Given the description of an element on the screen output the (x, y) to click on. 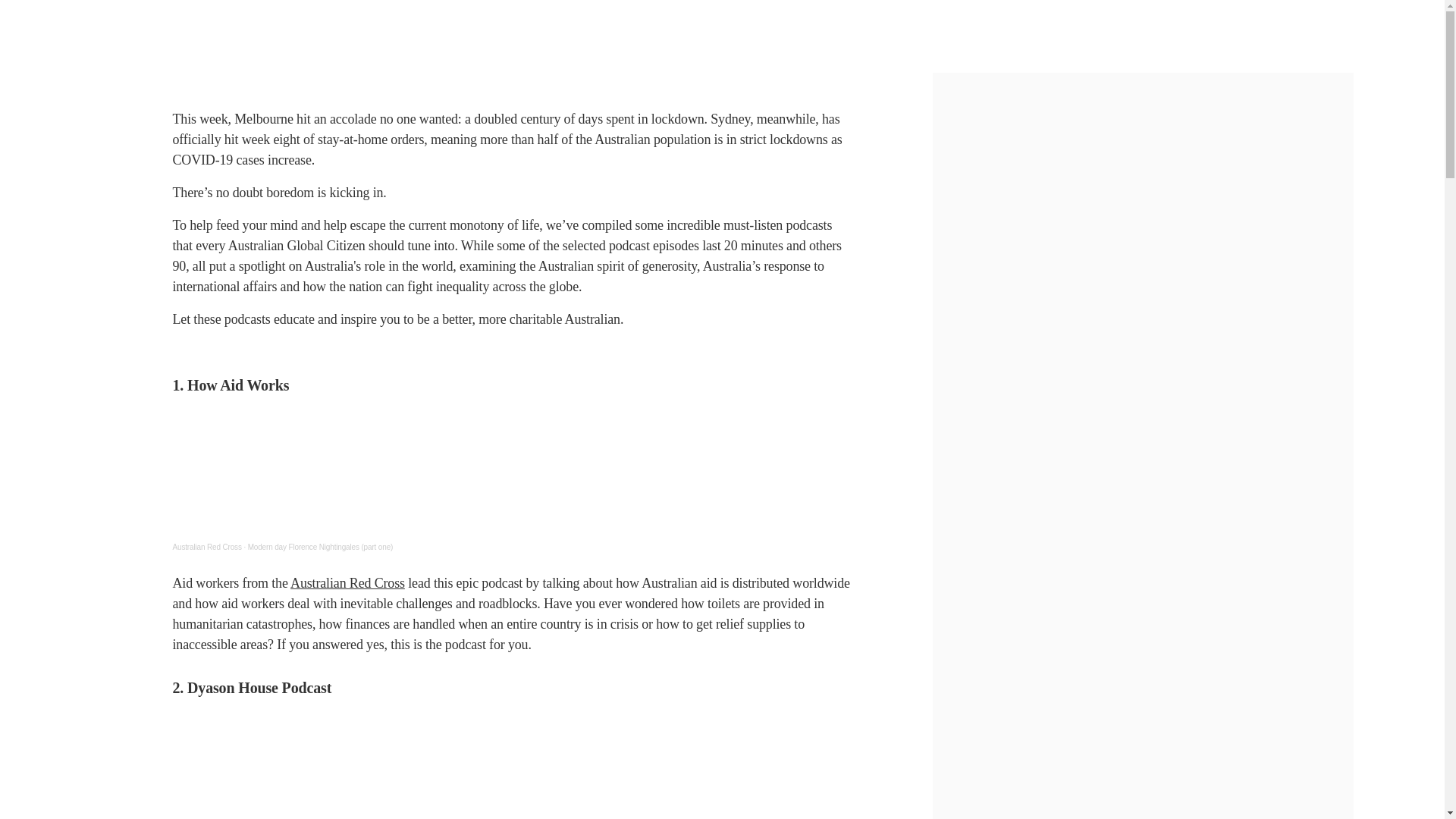
Australian Red Cross (346, 582)
Australian Red Cross (206, 546)
Australian Red Cross (206, 546)
